Given the description of an element on the screen output the (x, y) to click on. 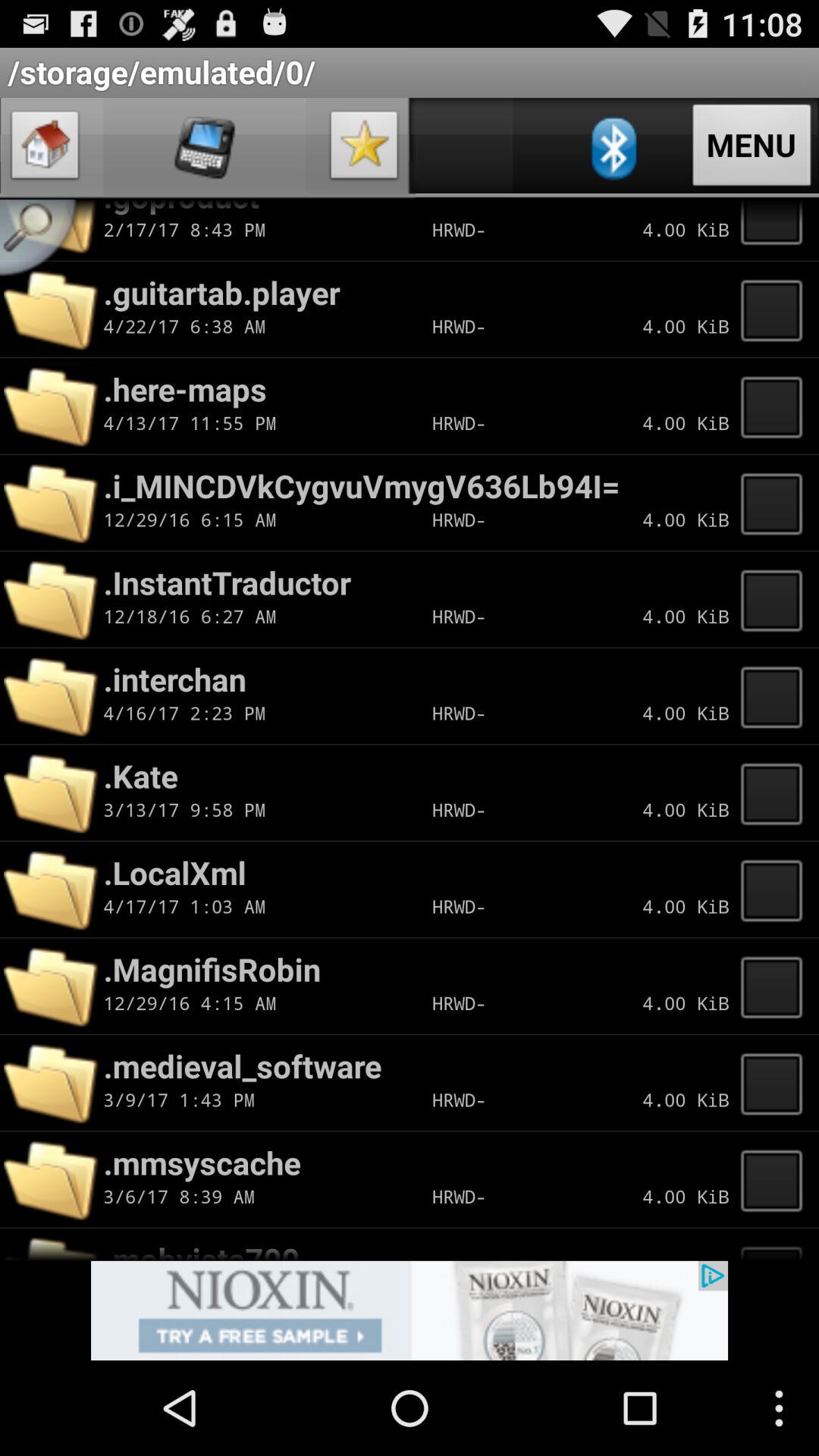
view list (776, 1244)
